Given the description of an element on the screen output the (x, y) to click on. 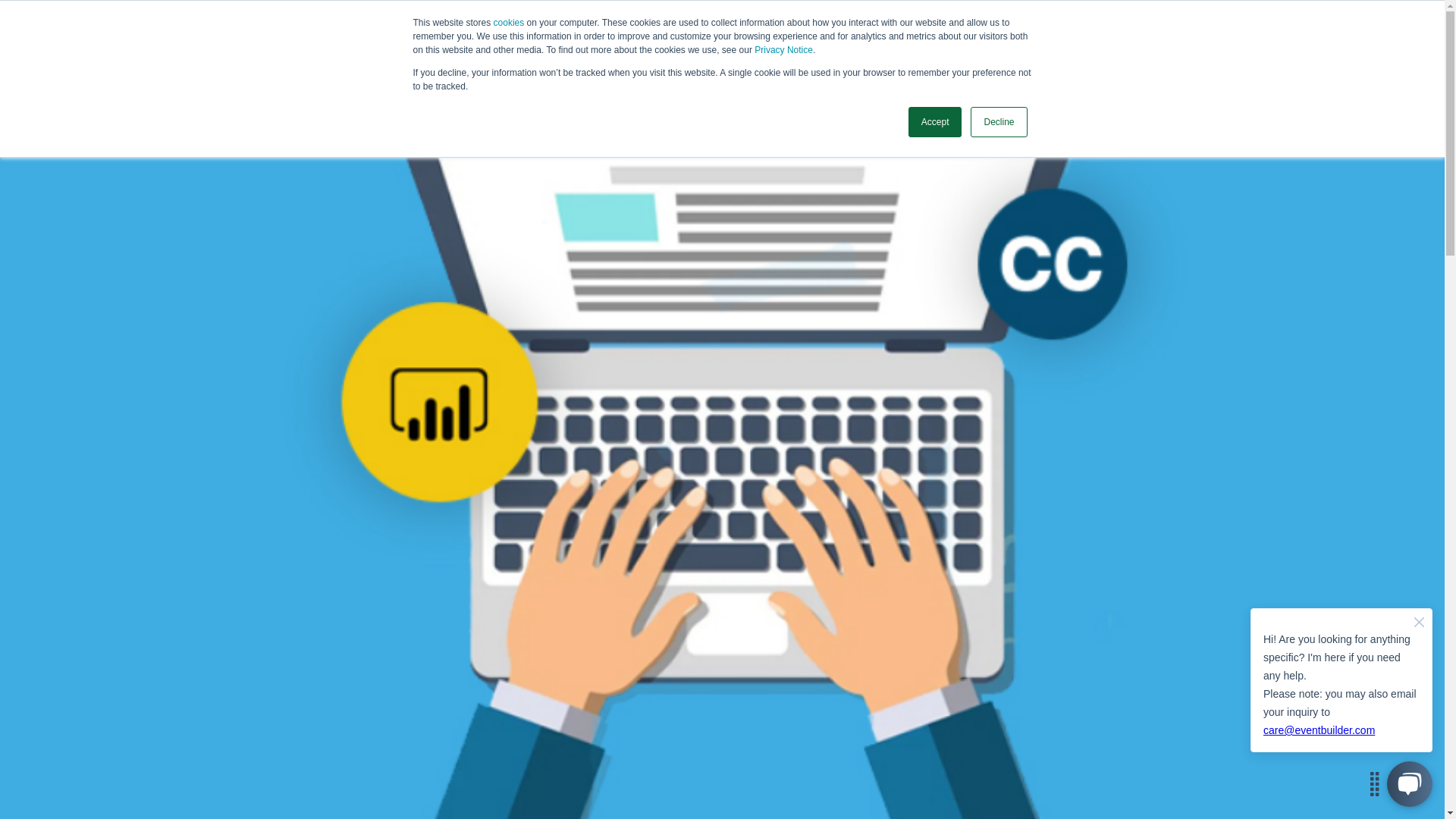
Contact Us (1162, 86)
Services (392, 86)
Software (308, 86)
cookies (510, 22)
EventBuilder logo (170, 81)
Portal Sign in (1250, 86)
Privacy Notice (783, 50)
About (679, 86)
Accept (935, 122)
Our Webinar Hub (586, 86)
